Given the description of an element on the screen output the (x, y) to click on. 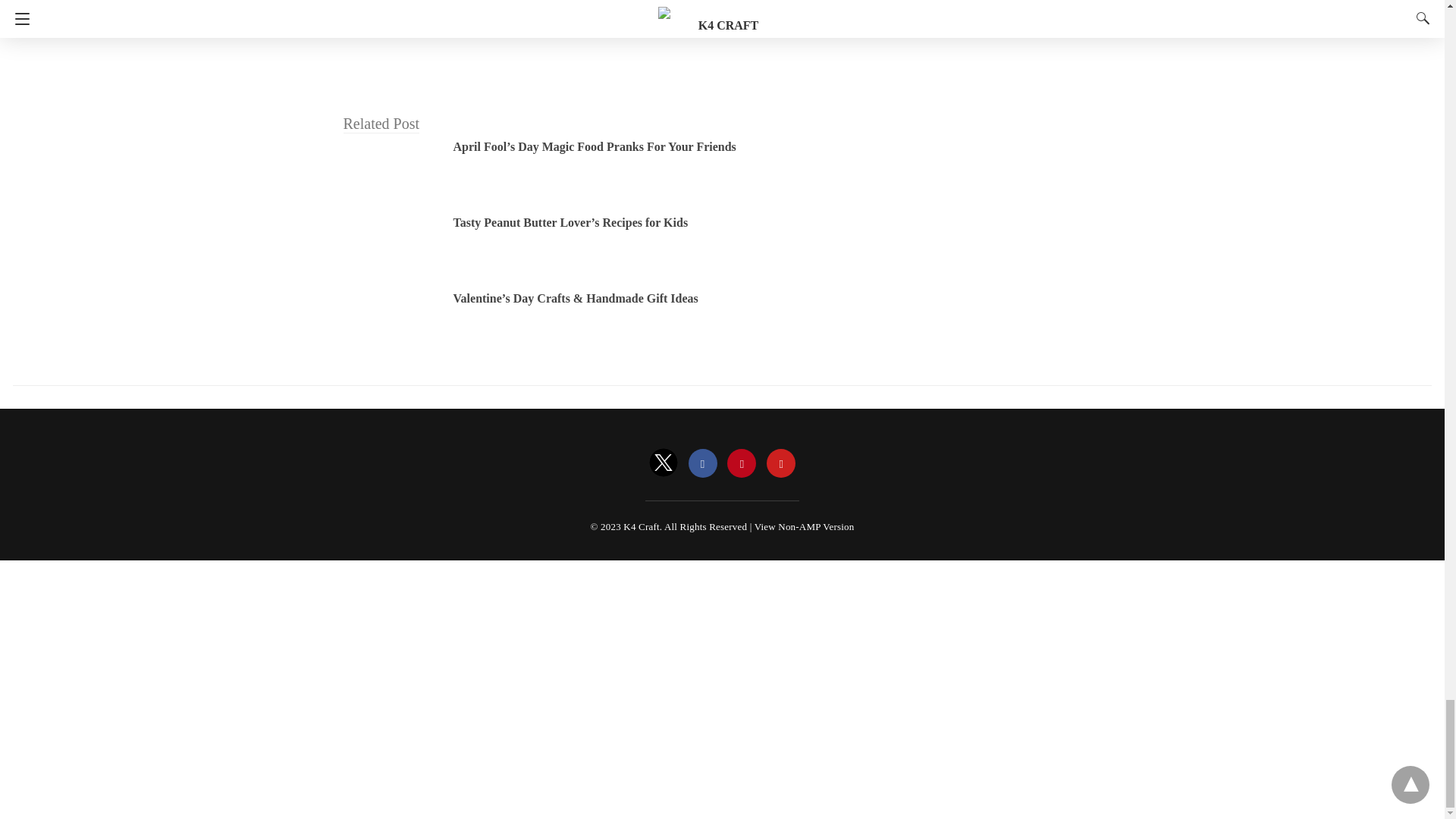
twitter profile (663, 463)
facebook profile (702, 463)
View Non-AMP Version (804, 526)
pinterest profile (740, 463)
youtube profile (780, 463)
